Given the description of an element on the screen output the (x, y) to click on. 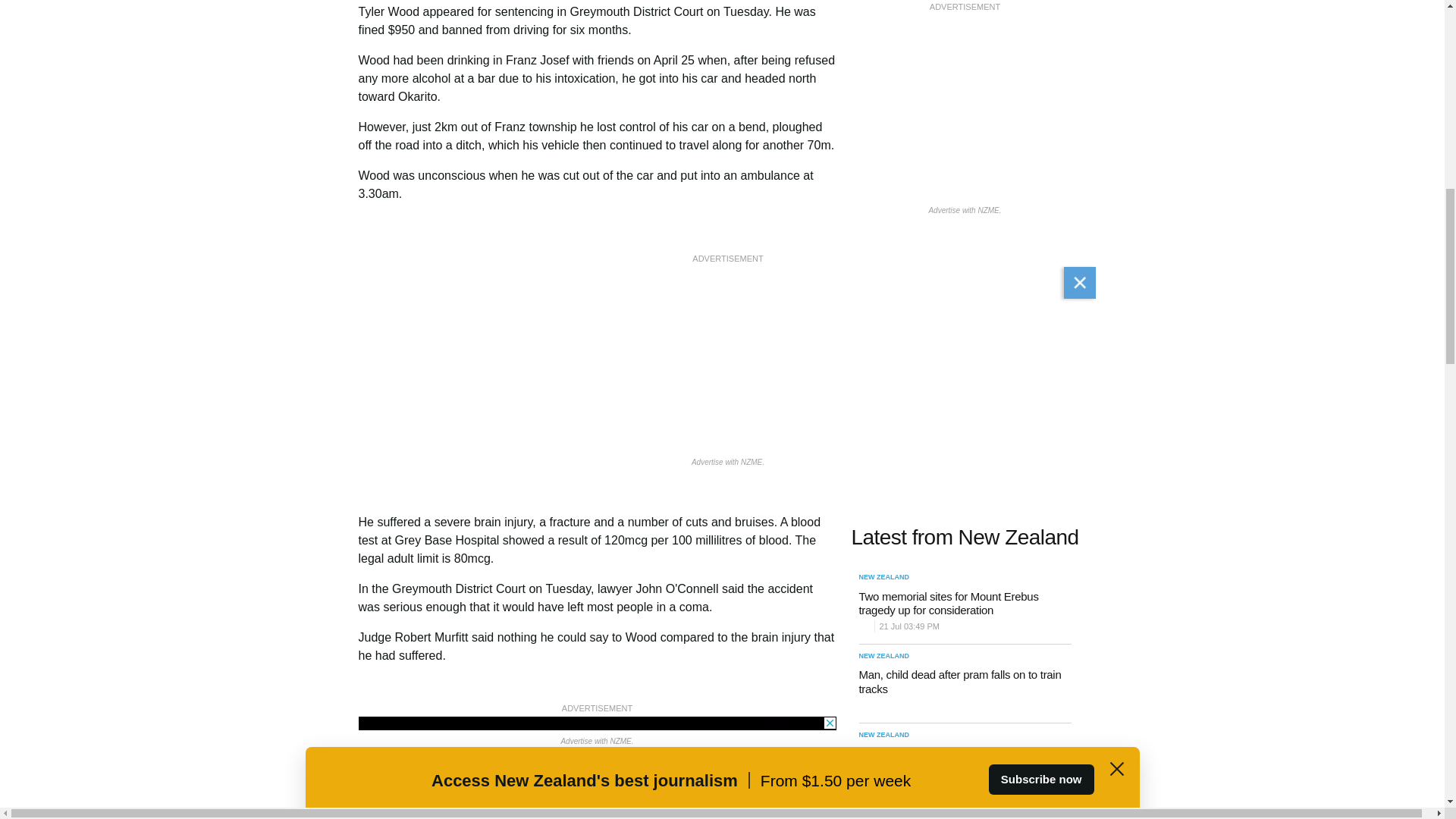
3rd party ad content (596, 723)
